Given the description of an element on the screen output the (x, y) to click on. 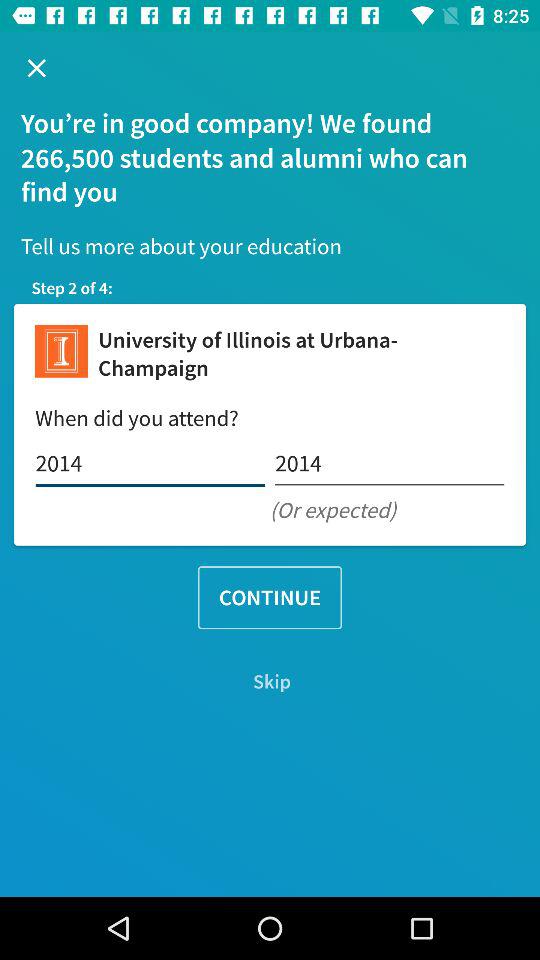
tap the skip item (269, 681)
